Given the description of an element on the screen output the (x, y) to click on. 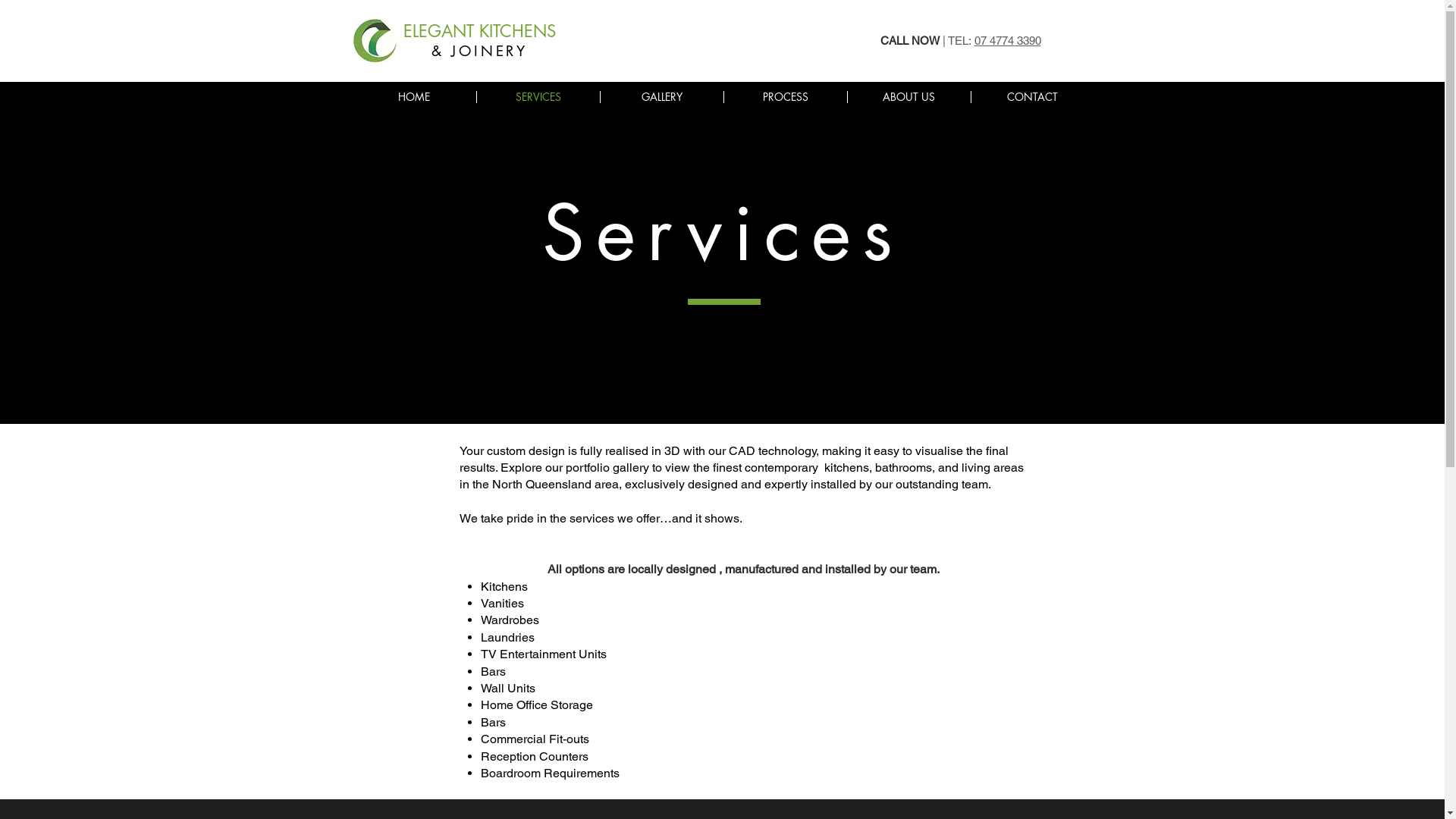
ABOUT US Element type: text (907, 97)
GALLERY Element type: text (660, 97)
PROCESS Element type: text (785, 97)
07 4774 3390 Element type: text (1006, 40)
HOME Element type: text (413, 97)
SERVICES Element type: text (537, 97)
CONTACT Element type: text (1032, 97)
